Given the description of an element on the screen output the (x, y) to click on. 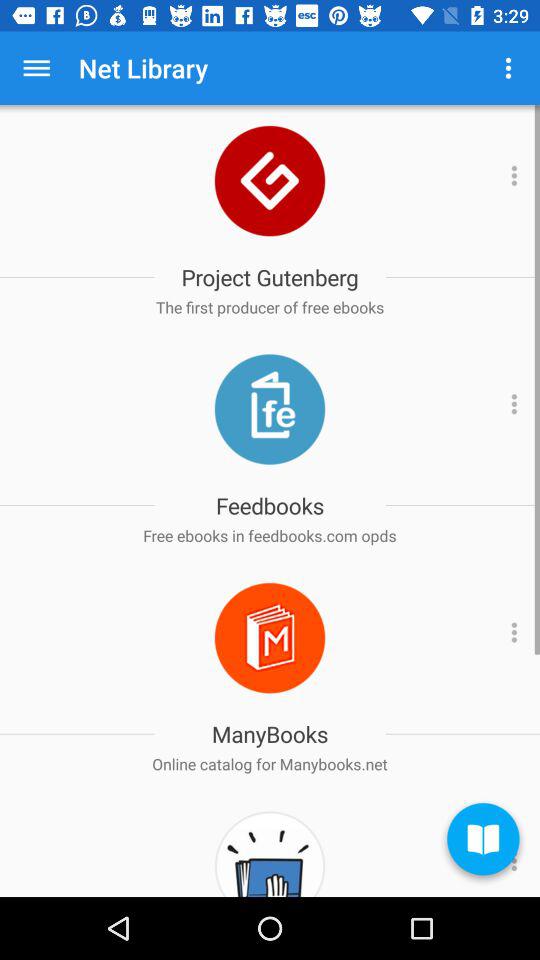
tap the project gutenberg item (269, 277)
